Given the description of an element on the screen output the (x, y) to click on. 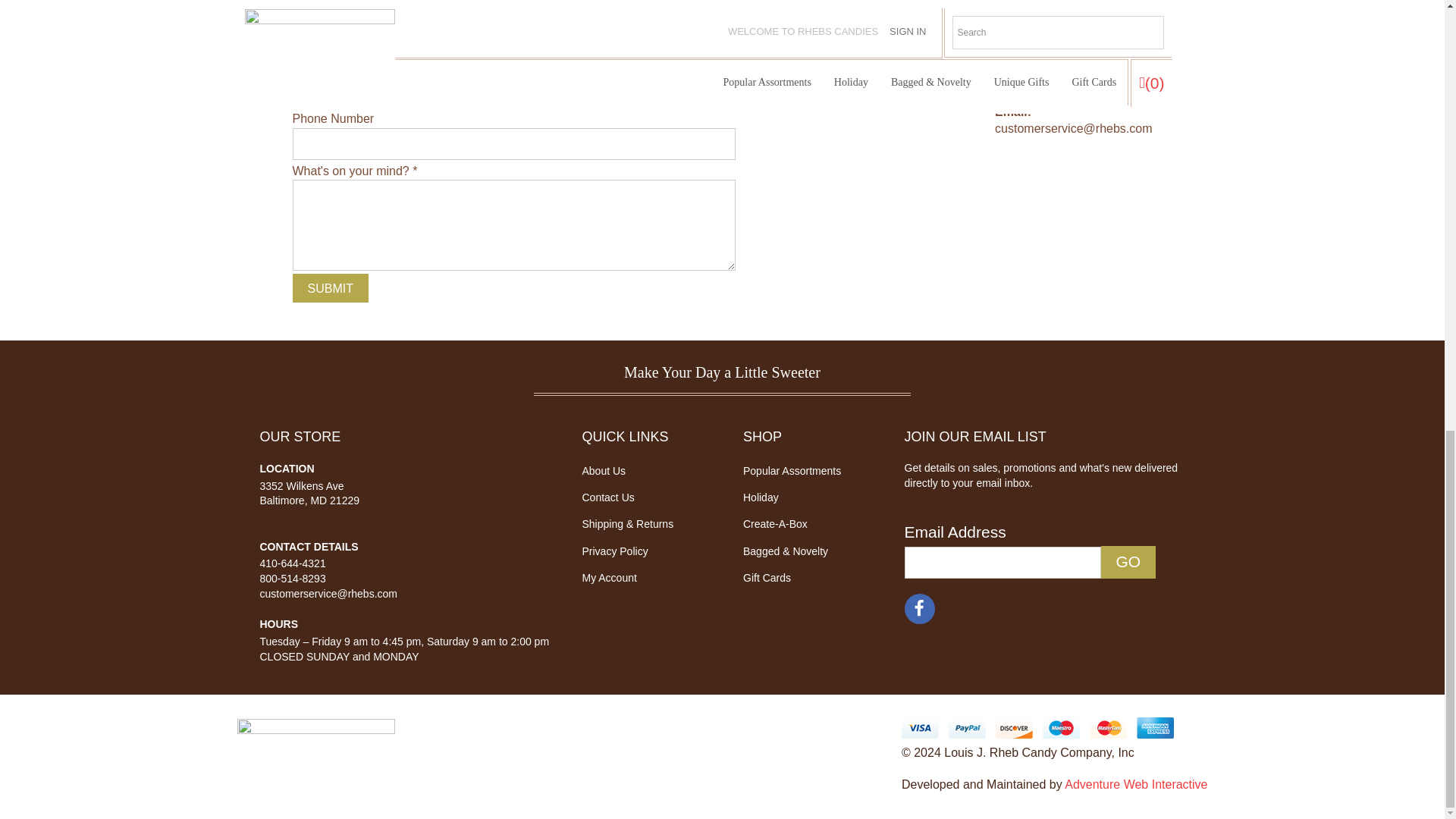
GO (1128, 562)
Submit (330, 287)
